Given the description of an element on the screen output the (x, y) to click on. 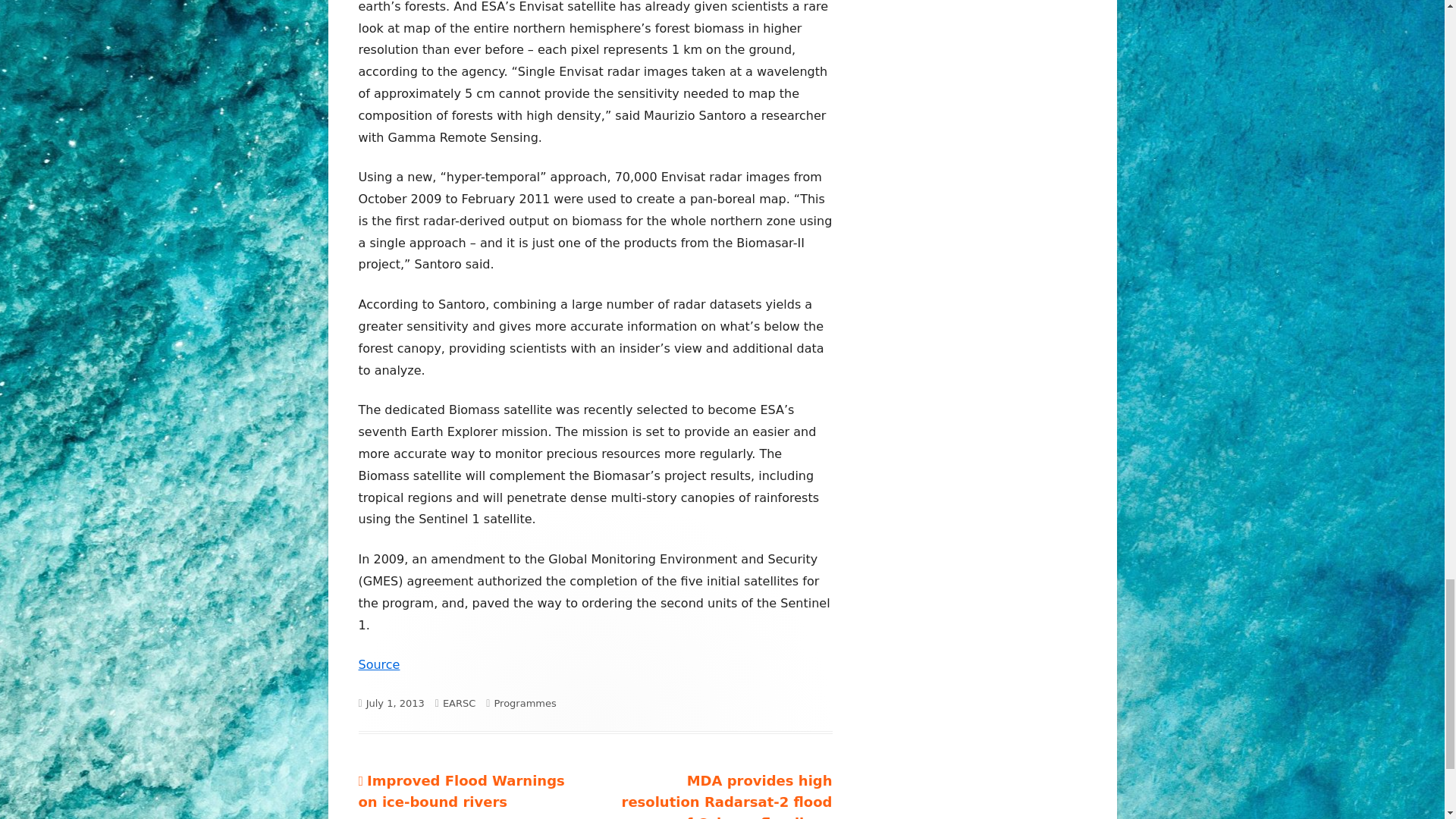
Programmes (524, 703)
EARSC (459, 703)
July 1, 2013 (395, 703)
Source (378, 664)
